Given the description of an element on the screen output the (x, y) to click on. 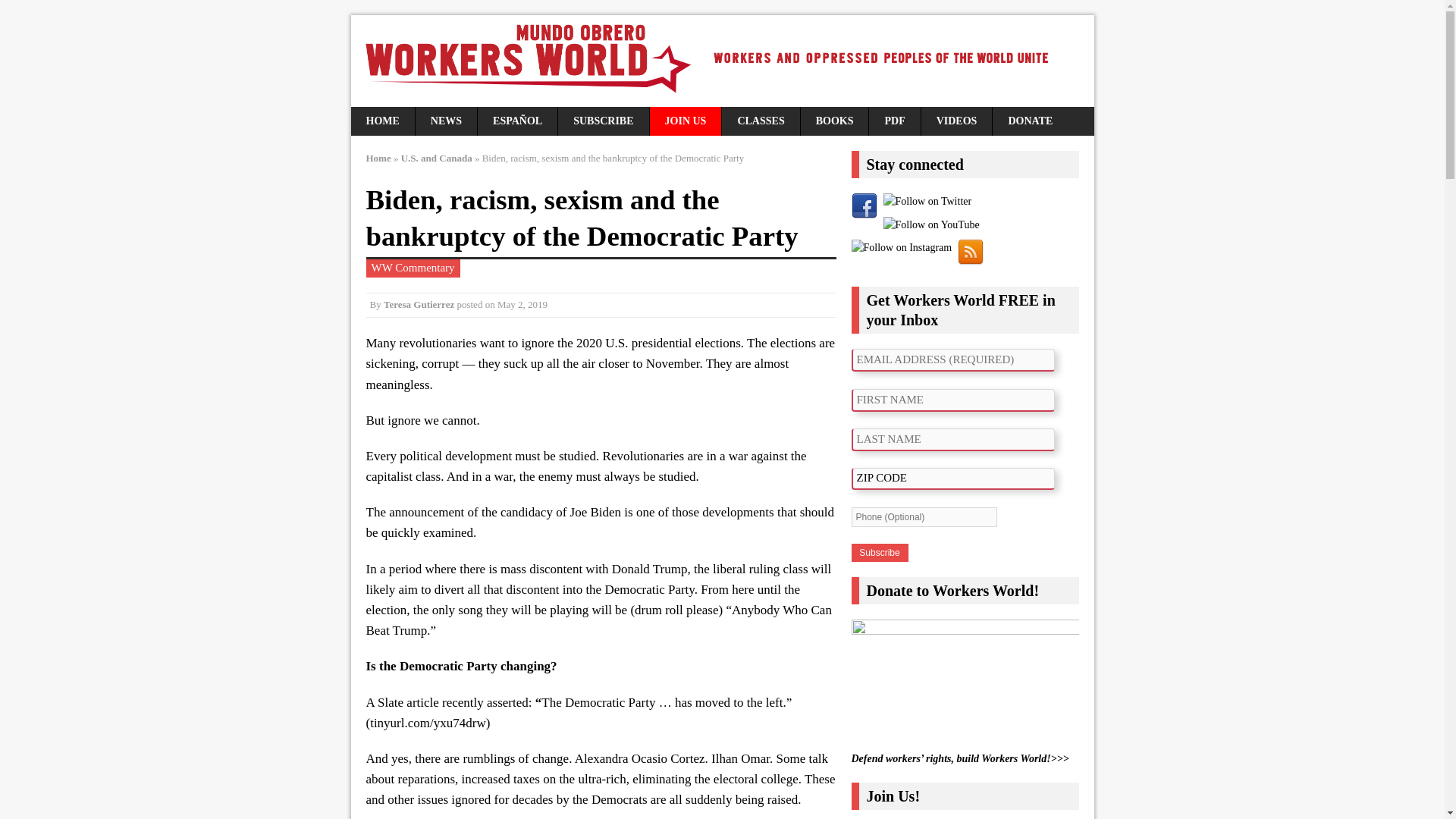
NEWS (445, 121)
BOOKS (834, 121)
SUBSCRIBE (602, 121)
JOIN US (685, 121)
PDF (894, 121)
Subscribe (878, 552)
CLASSES (760, 121)
Workers World (721, 61)
HOME (381, 121)
